Given the description of an element on the screen output the (x, y) to click on. 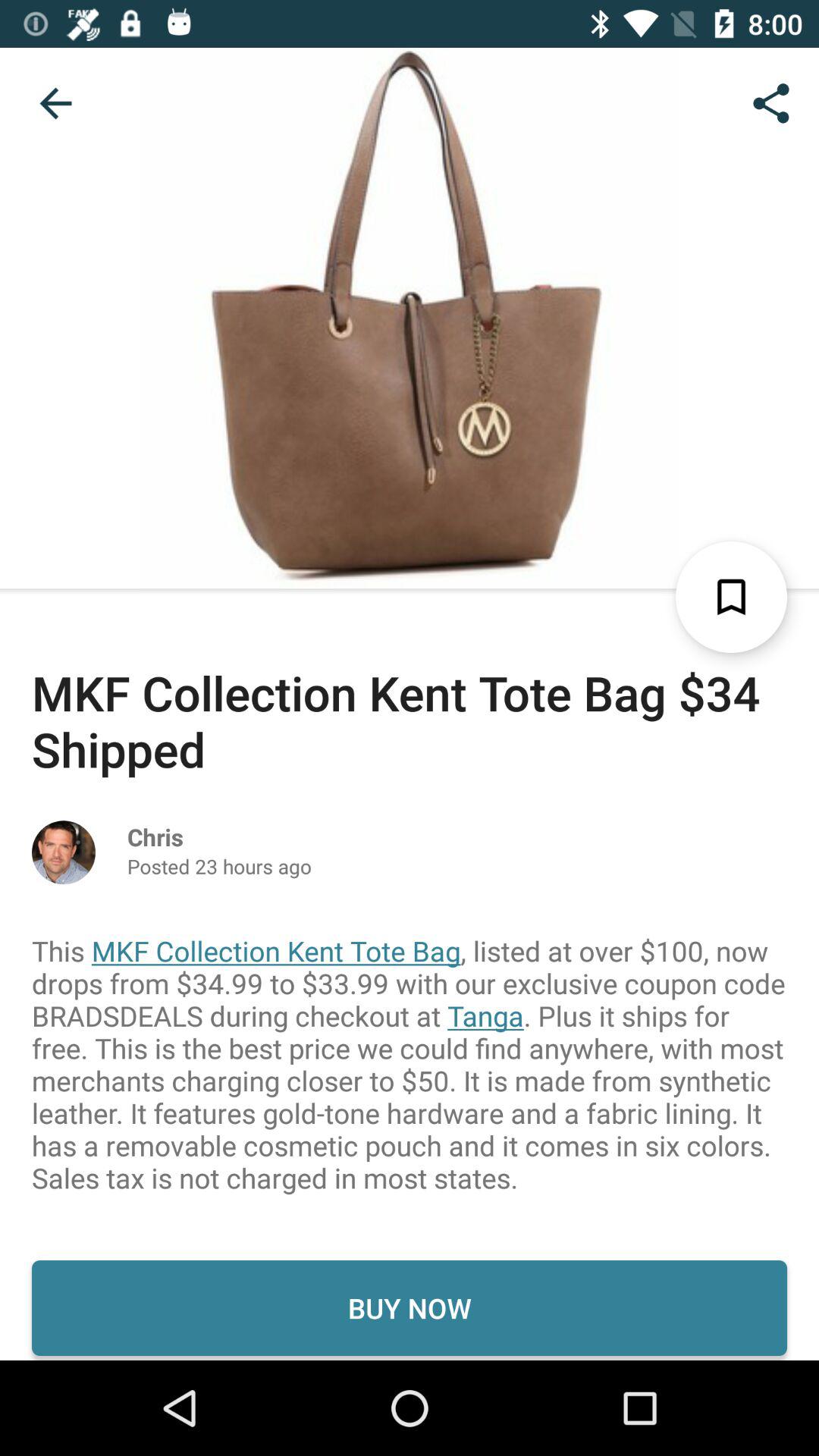
tap icon below this mkf collection icon (409, 1307)
